Given the description of an element on the screen output the (x, y) to click on. 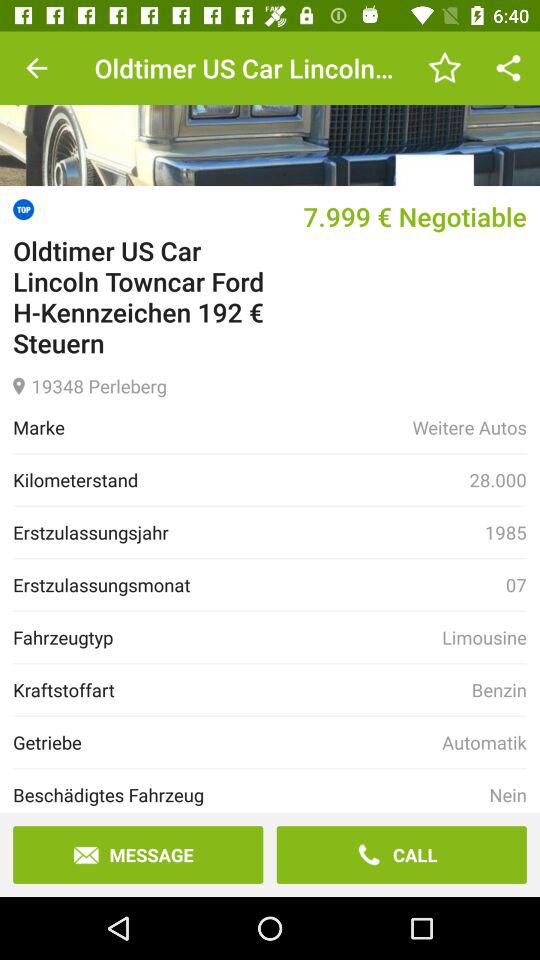
click the item next to automatik icon (227, 742)
